Given the description of an element on the screen output the (x, y) to click on. 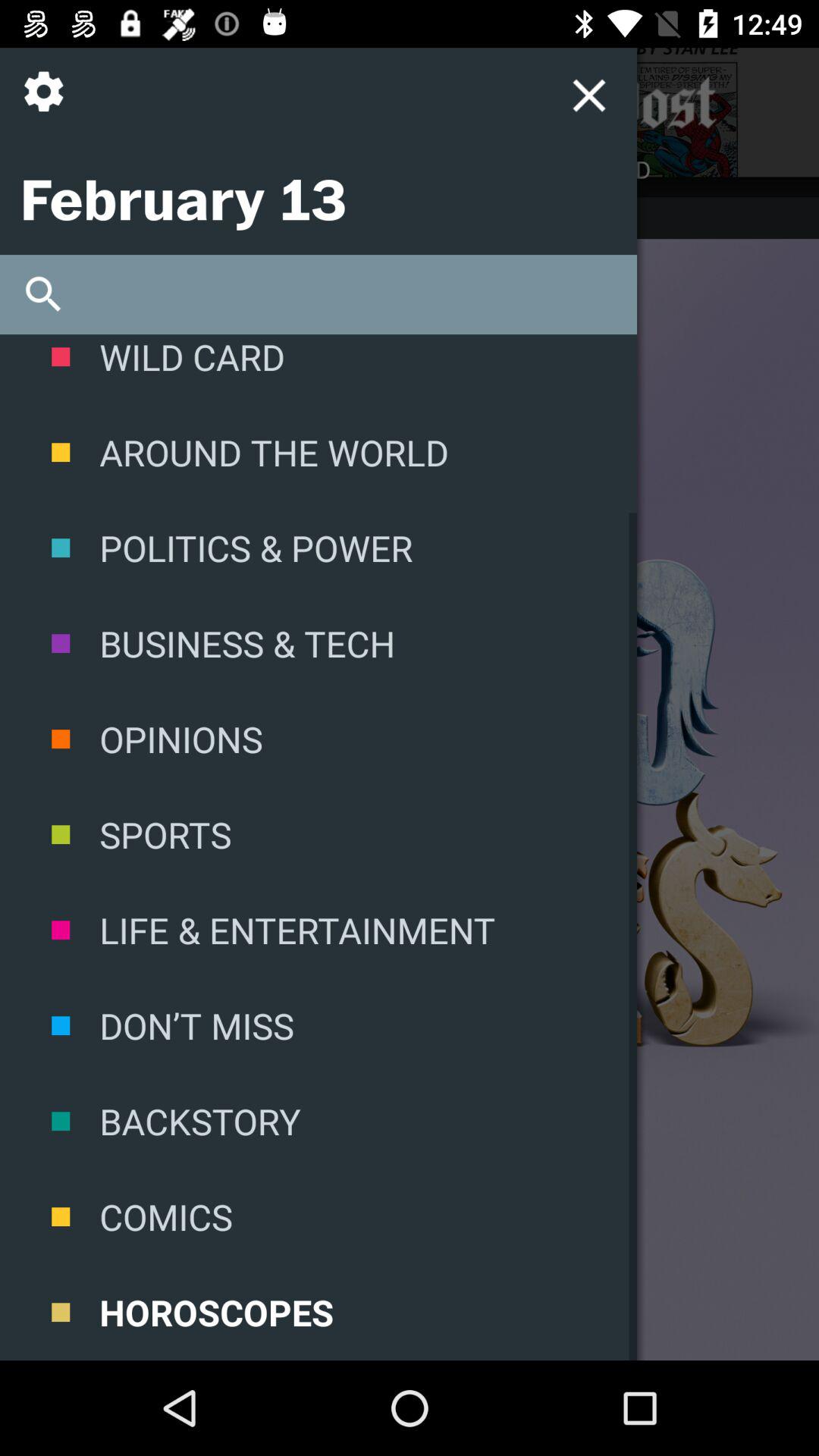
flip to the wild card item (318, 369)
